Given the description of an element on the screen output the (x, y) to click on. 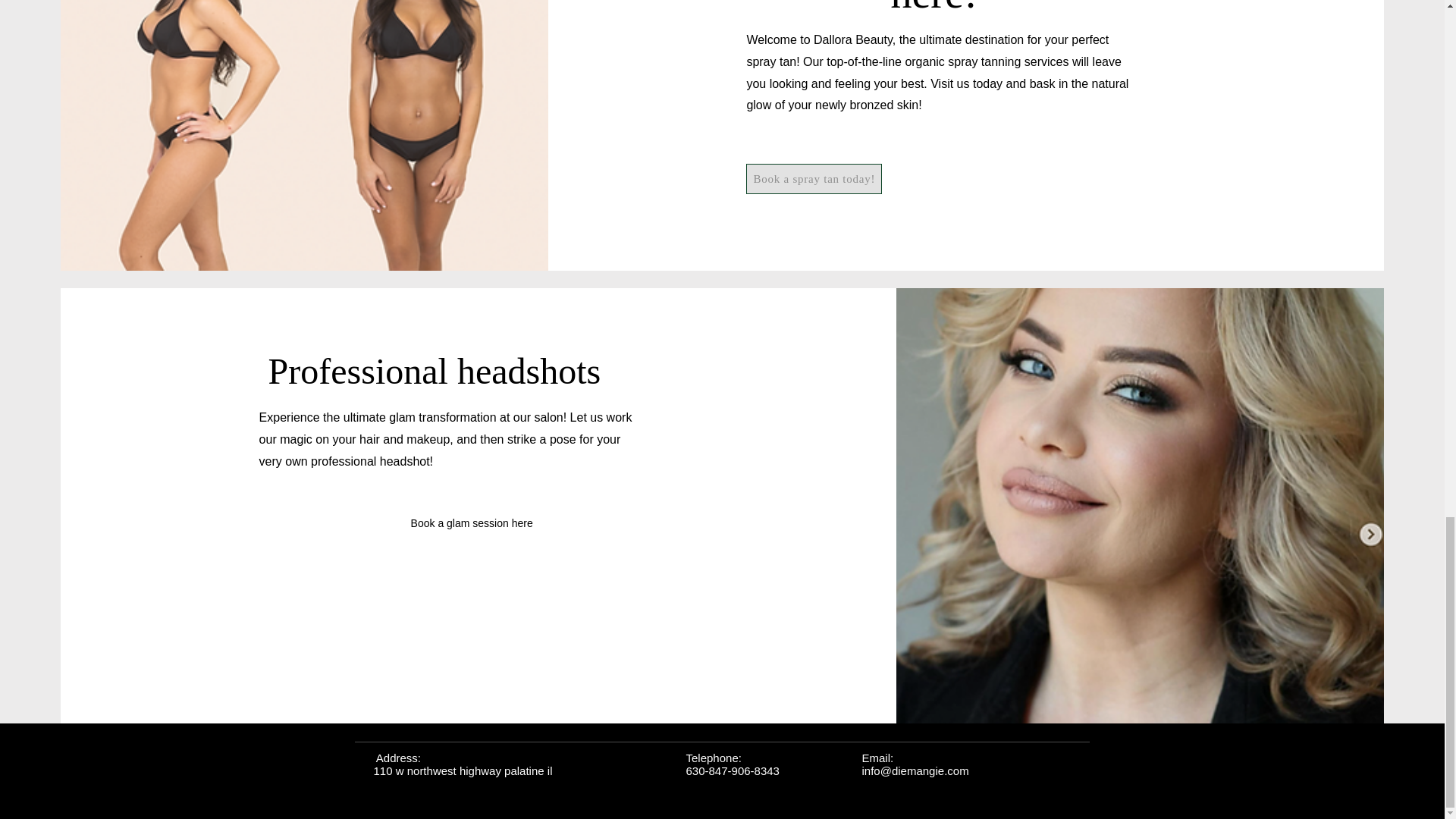
Book a glam session here (478, 522)
Book a spray tan today! (813, 178)
